Given the description of an element on the screen output the (x, y) to click on. 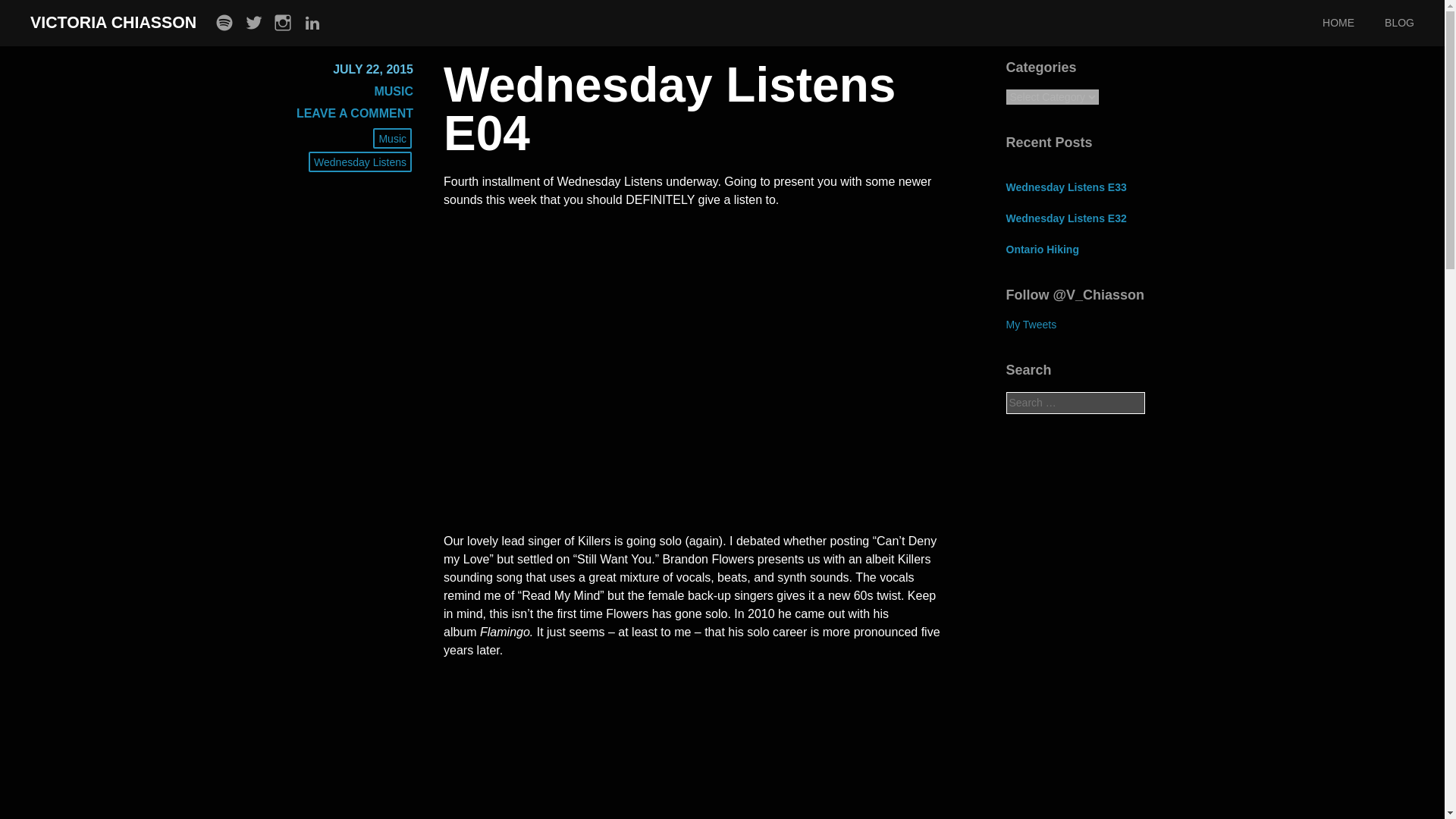
HOME (1353, 22)
Wednesday Listens (360, 161)
Ontario Hiking (1042, 249)
LEAVE A COMMENT (355, 113)
My Tweets (1031, 324)
Search (26, 13)
Wednesday Listens E33 (1065, 186)
Music (392, 137)
MUSIC (393, 91)
JULY 22, 2015 (373, 69)
Wednesday Listens E32 (1065, 218)
VICTORIA CHIASSON (113, 22)
